Given the description of an element on the screen output the (x, y) to click on. 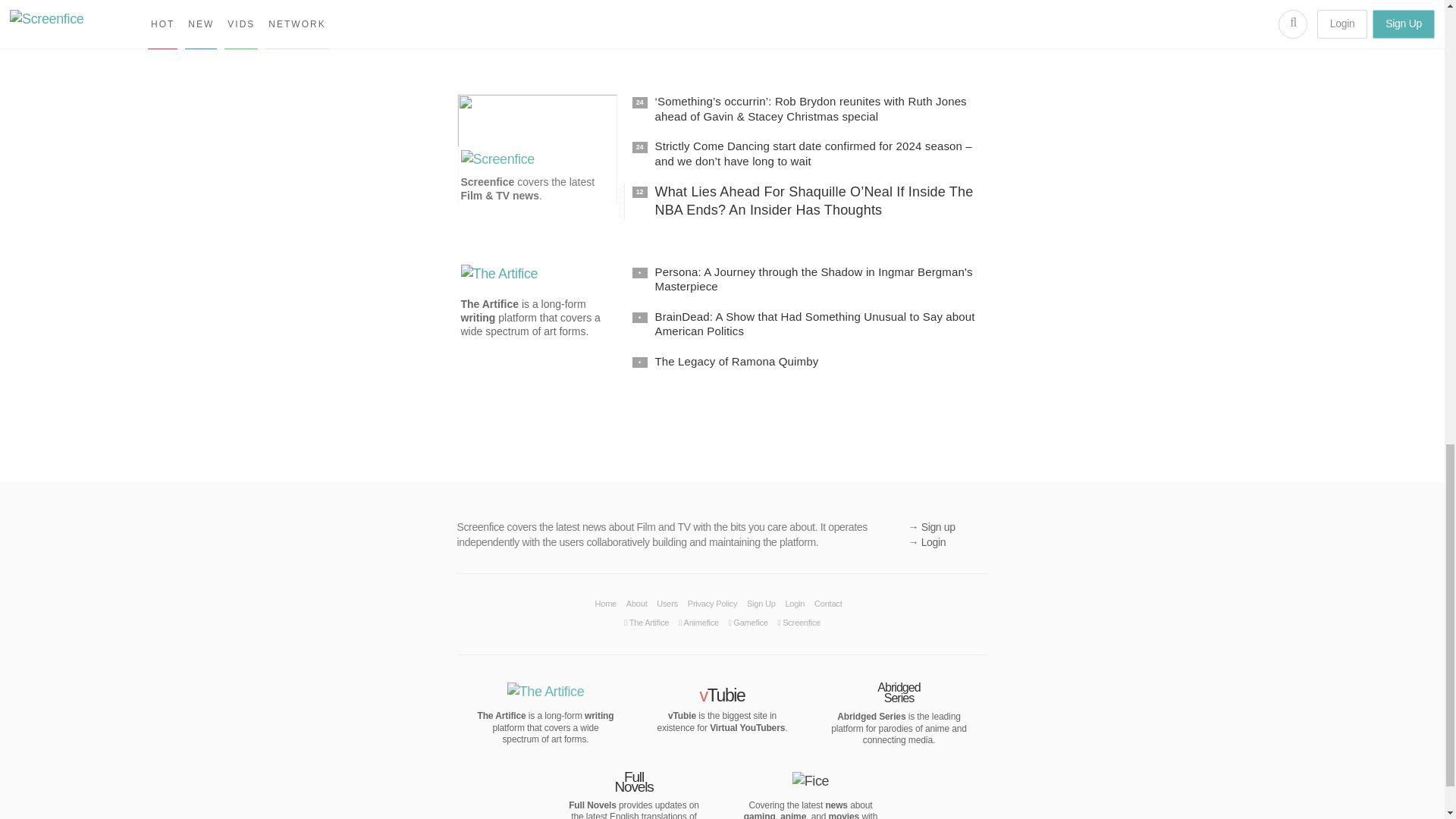
Gamefice (495, 5)
Game news (490, 39)
Visit post (809, 30)
Game news (490, 39)
Gamefice (484, 26)
Gamefice (484, 26)
